Given the description of an element on the screen output the (x, y) to click on. 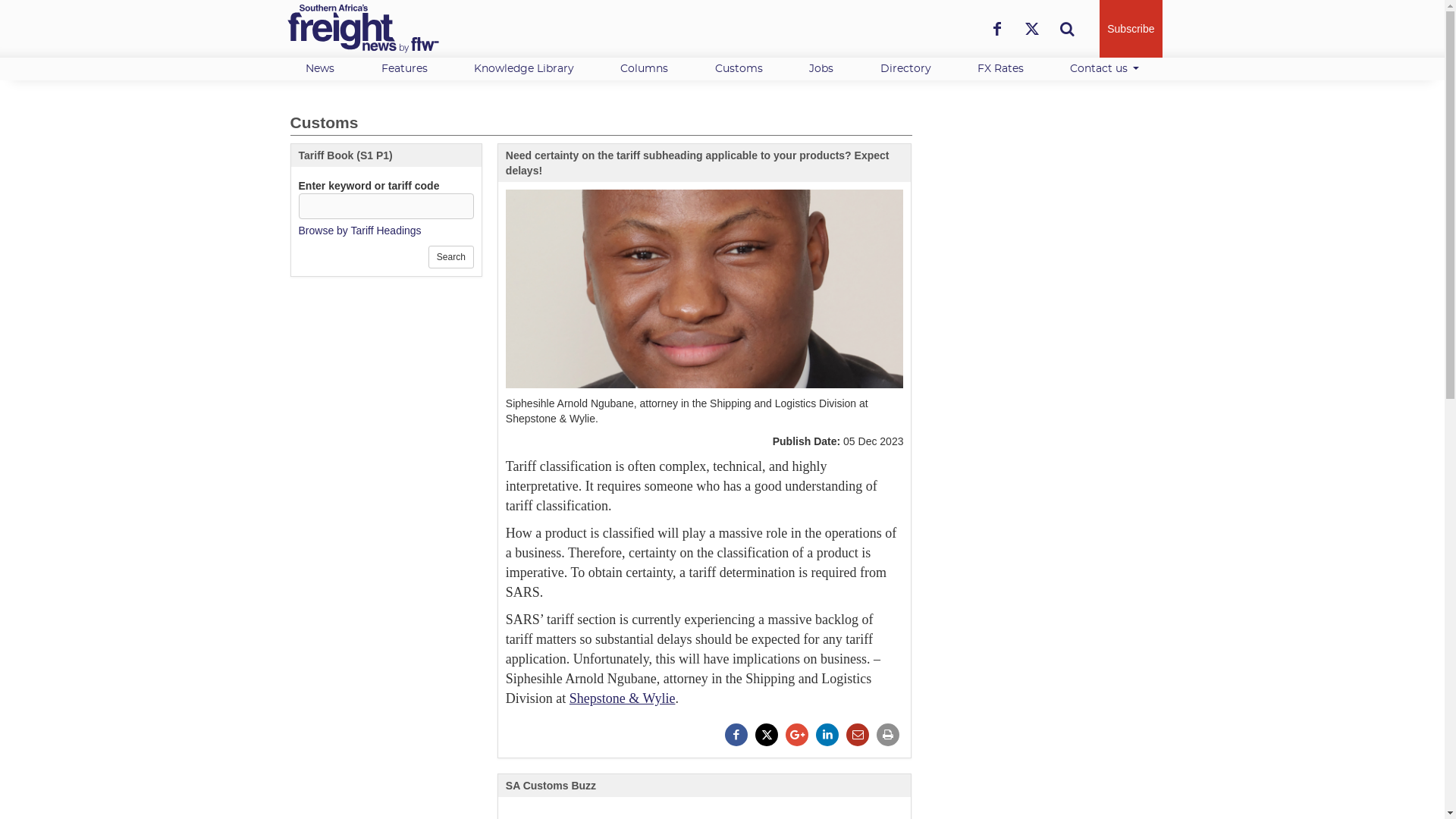
Facebook (997, 28)
Search (451, 256)
Jobs (821, 68)
Directory (905, 68)
Contact us (1103, 68)
Home (362, 28)
LinkedIn (826, 734)
Twitter (1031, 28)
Search (1066, 28)
Subscribe (1130, 28)
Foreign Currency Exchange Rates (999, 68)
News (319, 68)
E-mail (857, 734)
Twitter (1031, 28)
Facebook (736, 734)
